Given the description of an element on the screen output the (x, y) to click on. 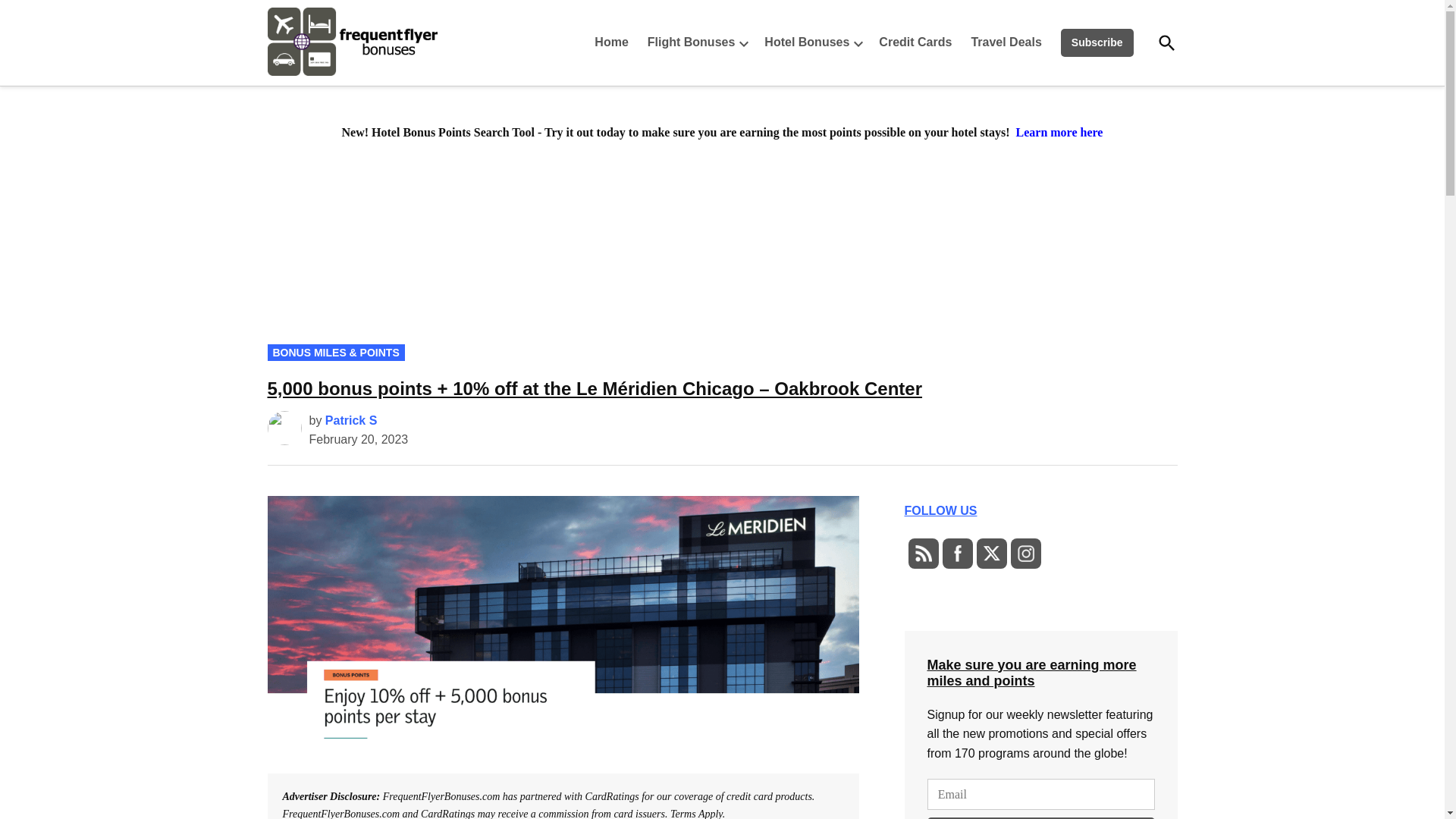
Frequent Flyer Bonuses (483, 74)
Hotel Bonuses (802, 41)
Home (614, 41)
Instagram (1025, 553)
Flight Bonuses (687, 41)
Twitter (990, 553)
RSS (922, 553)
Facebook (957, 553)
